Given the description of an element on the screen output the (x, y) to click on. 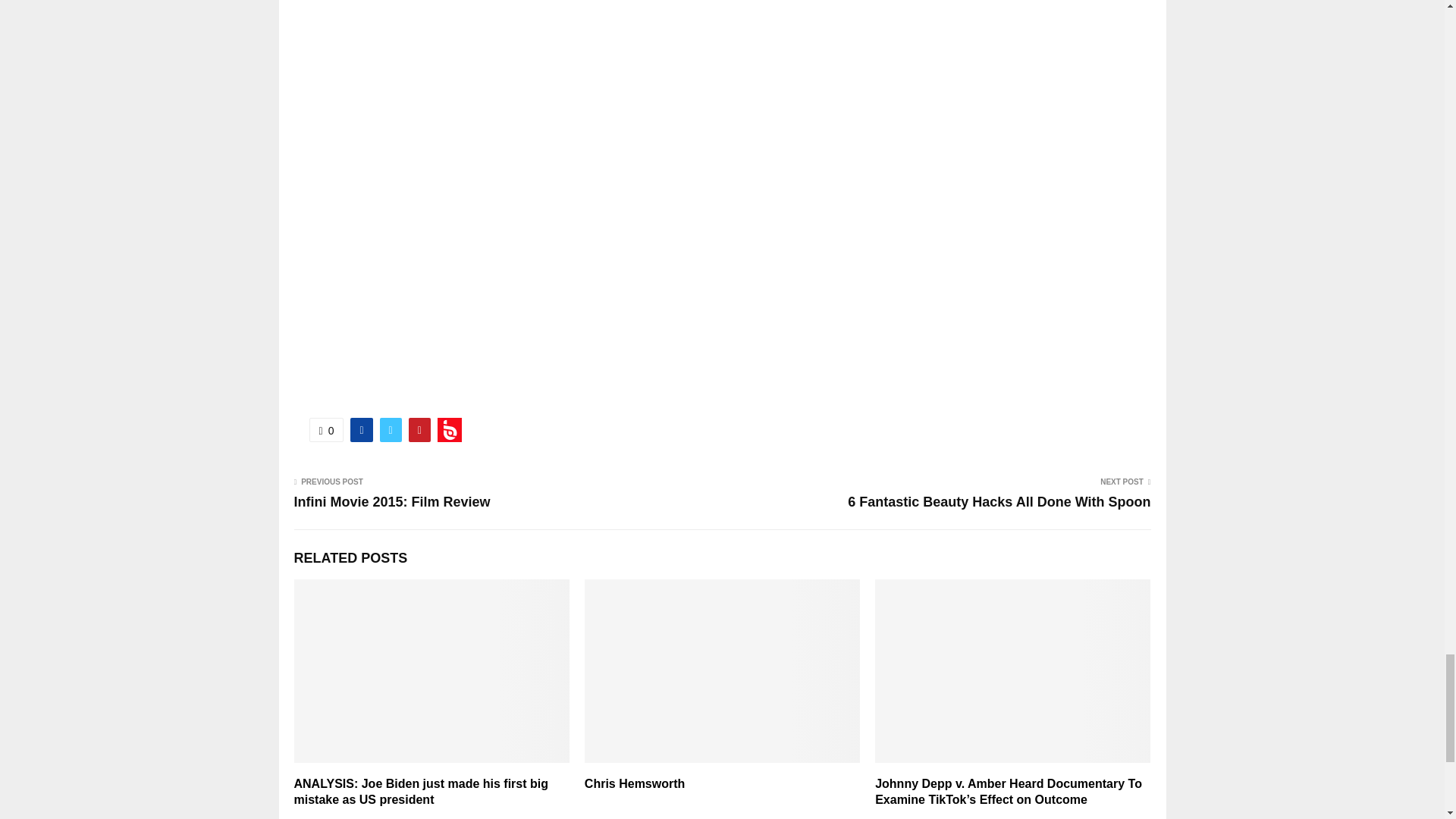
Like (325, 429)
0 (325, 429)
Infini Movie 2015: Film Review (392, 501)
